Given the description of an element on the screen output the (x, y) to click on. 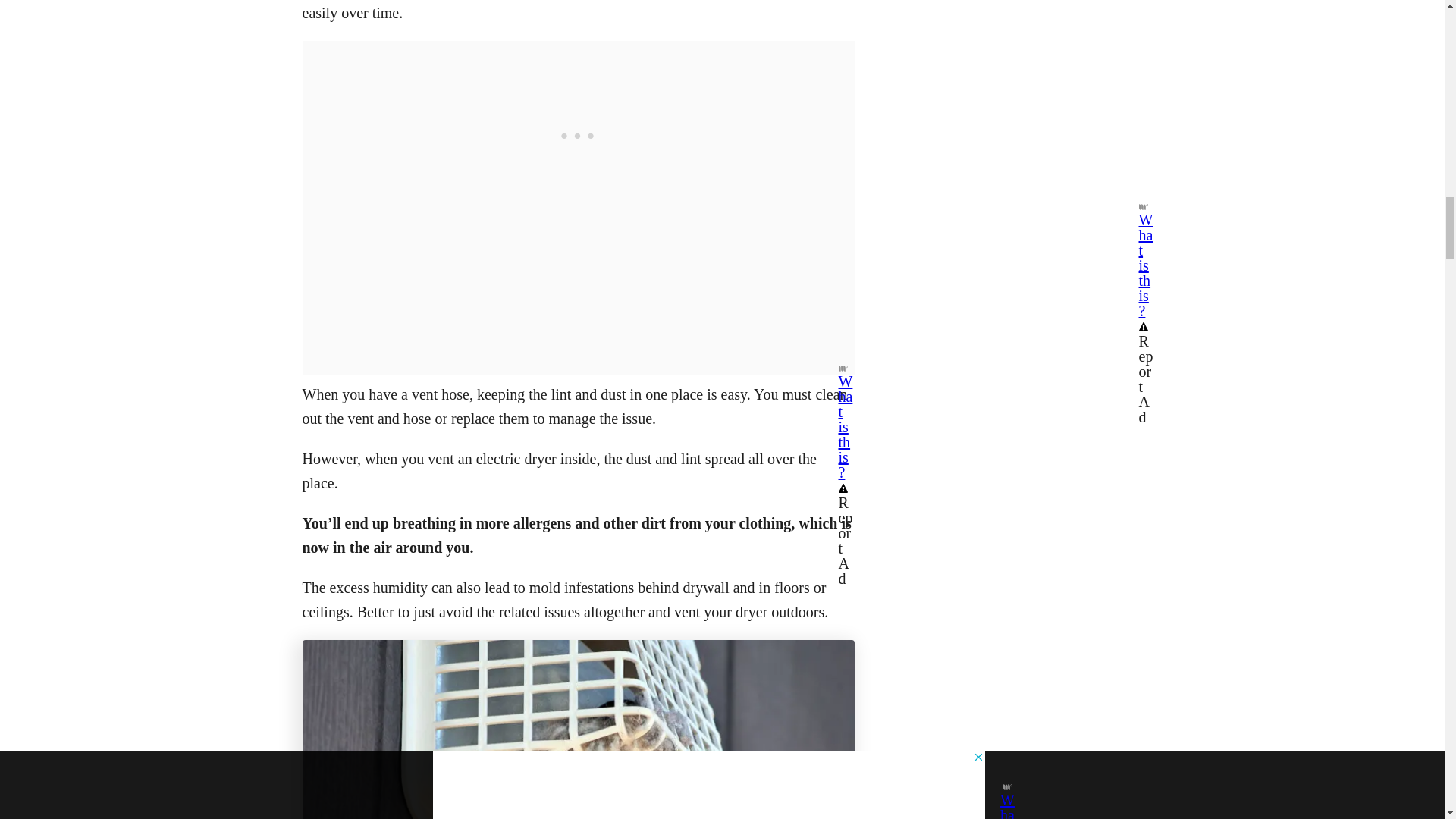
3rd party ad content (577, 135)
